Given the description of an element on the screen output the (x, y) to click on. 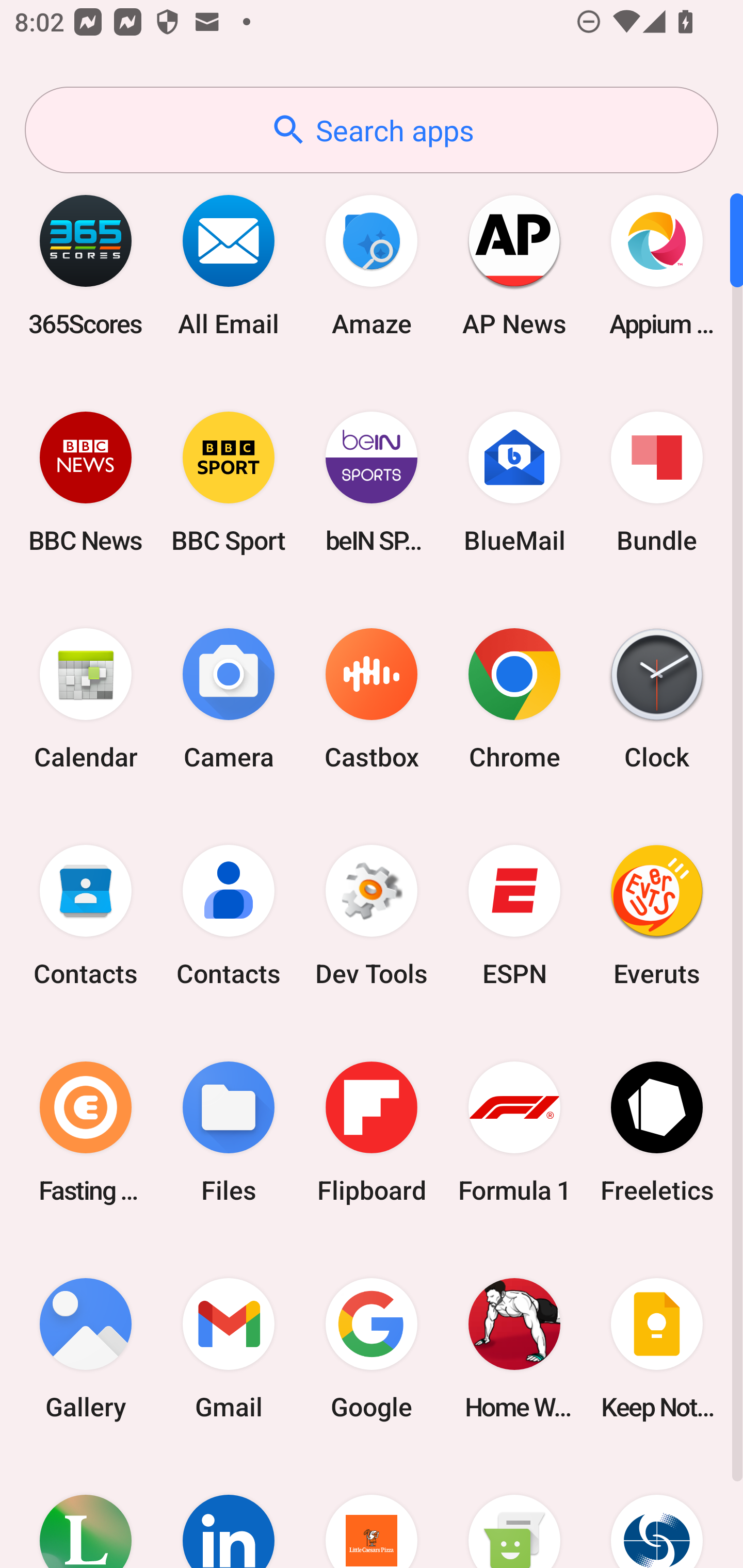
  Search apps (371, 130)
365Scores (85, 264)
All Email (228, 264)
Amaze (371, 264)
AP News (514, 264)
Appium Settings (656, 264)
BBC News (85, 482)
BBC Sport (228, 482)
beIN SPORTS (371, 482)
BlueMail (514, 482)
Bundle (656, 482)
Calendar (85, 699)
Camera (228, 699)
Castbox (371, 699)
Chrome (514, 699)
Clock (656, 699)
Contacts (85, 915)
Contacts (228, 915)
Dev Tools (371, 915)
ESPN (514, 915)
Everuts (656, 915)
Fasting Coach (85, 1131)
Files (228, 1131)
Flipboard (371, 1131)
Formula 1 (514, 1131)
Freeletics (656, 1131)
Gallery (85, 1348)
Gmail (228, 1348)
Google (371, 1348)
Home Workout (514, 1348)
Keep Notes (656, 1348)
